Given the description of an element on the screen output the (x, y) to click on. 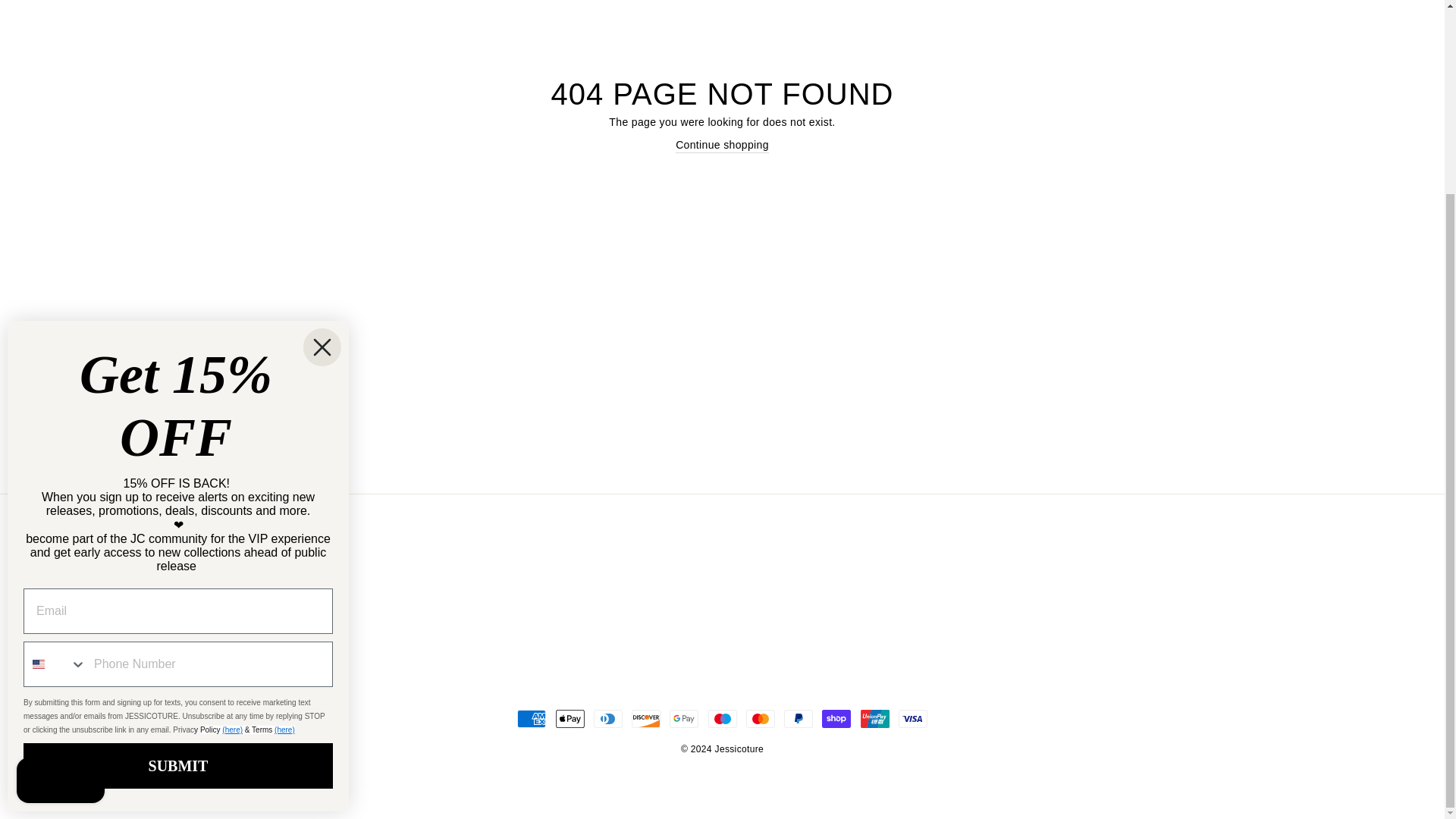
Diners Club (608, 719)
Apple Pay (568, 719)
Mastercard (759, 719)
Discover (646, 719)
Maestro (721, 719)
Visa (912, 719)
Shop Pay (836, 719)
PayPal (798, 719)
American Express (531, 719)
United States (38, 419)
